Given the description of an element on the screen output the (x, y) to click on. 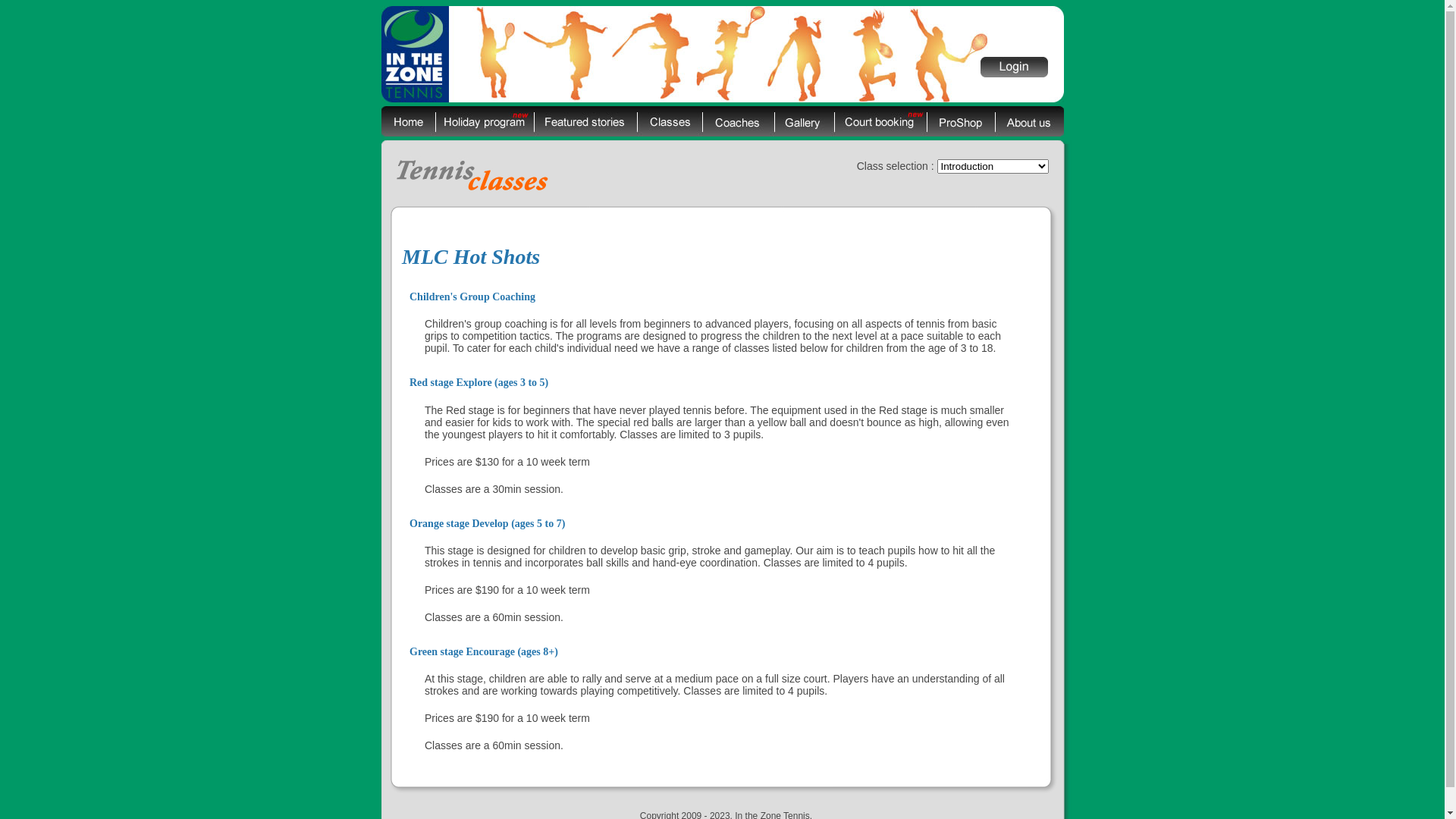
About us Element type: text (1028, 121)
Coaches Element type: text (738, 121)
Classes Element type: text (669, 121)
Gallery Element type: text (803, 121)
Home Element type: text (407, 121)
Featured stories Element type: text (585, 121)
School Holiday Programs Element type: text (484, 121)
Proshop Element type: text (960, 121)
Court booking Element type: text (880, 121)
